Given the description of an element on the screen output the (x, y) to click on. 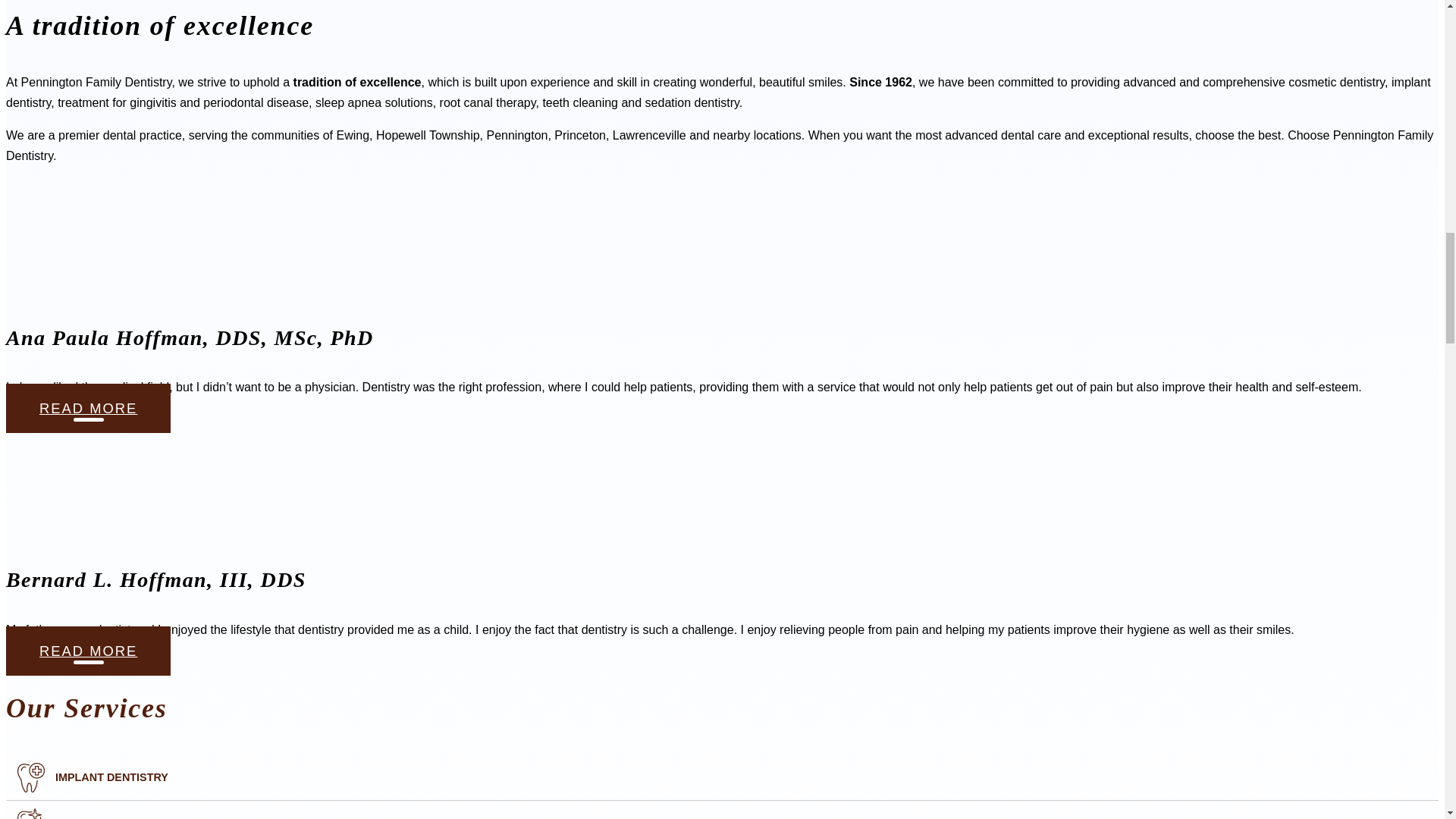
Ana Paula Hoffman, DDS, MSc, PhD-Torrance, CA (118, 234)
READ MORE (87, 408)
Bernard L. Hoffman, III, DDS-Torrance, CA (118, 477)
